Given the description of an element on the screen output the (x, y) to click on. 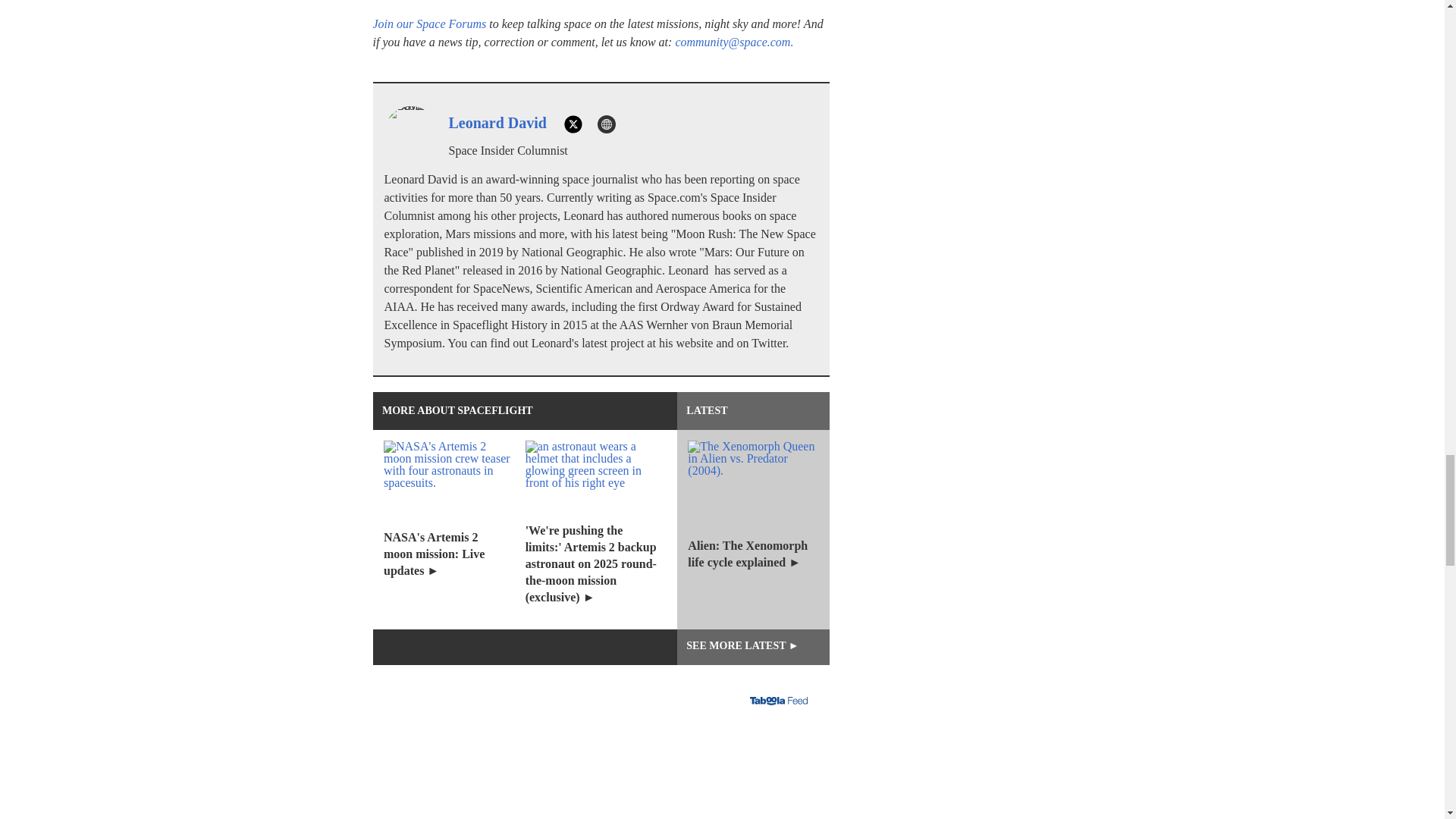
What is your writing missing? (600, 774)
